Given the description of an element on the screen output the (x, y) to click on. 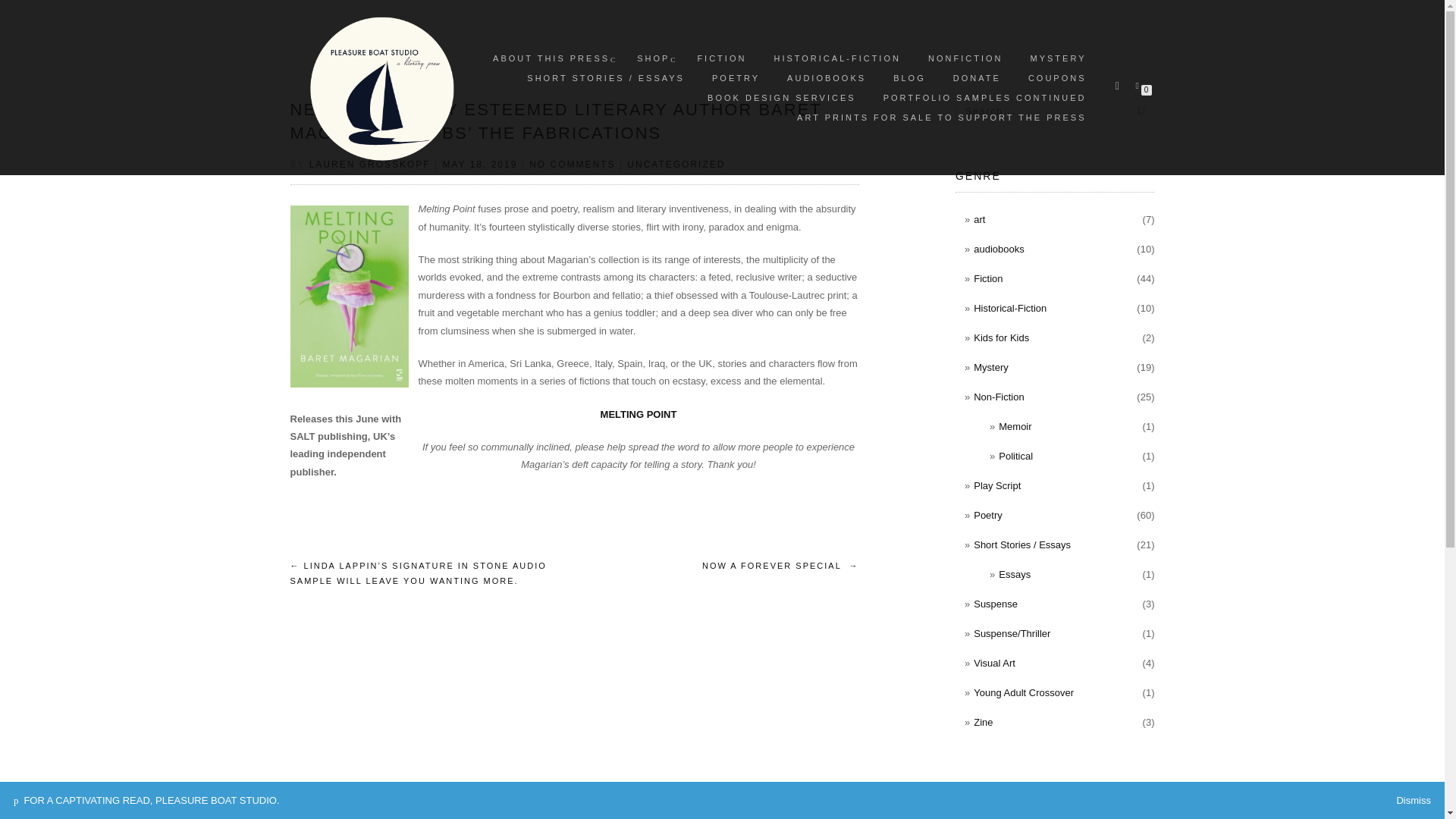
BOOK DESIGN SERVICES (781, 97)
NO COMMENTS (571, 163)
HISTORICAL-FICTION (836, 57)
NONFICTION (965, 57)
COUPONS (1056, 77)
Kids for Kids (1001, 337)
PayPal (1054, 790)
ABOUT THIS PRESS (551, 57)
PayPal (1054, 815)
MELTING POINT (638, 414)
audiobooks (999, 248)
UNCATEGORIZED (676, 163)
MAY 18, 2019 (479, 163)
ART PRINTS FOR SALE TO SUPPORT THE PRESS (941, 117)
BLOG (909, 77)
